Given the description of an element on the screen output the (x, y) to click on. 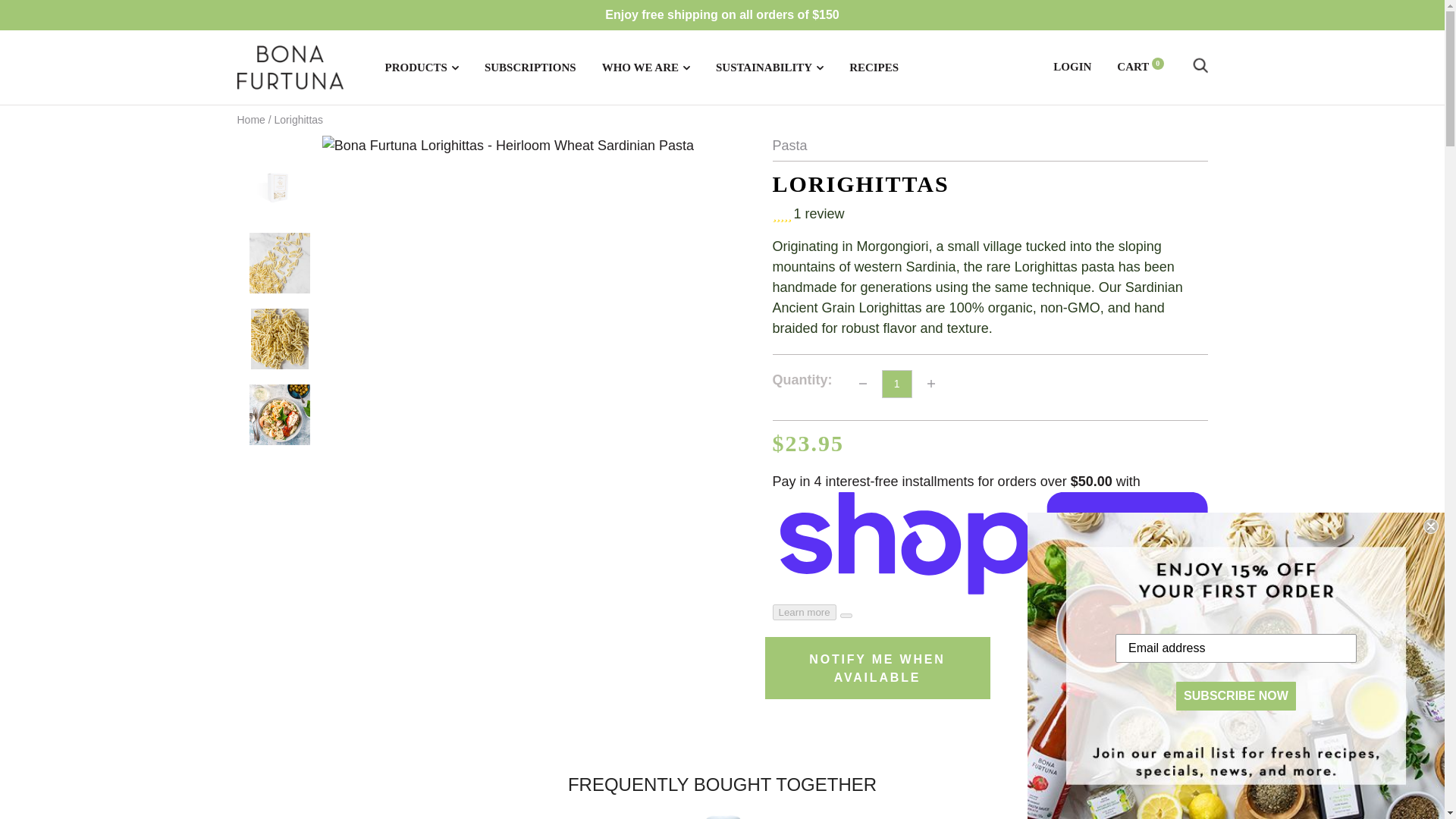
Decrease quantity by 1 (862, 384)
Home (249, 119)
Increase quantity by 1 (930, 384)
